Given the description of an element on the screen output the (x, y) to click on. 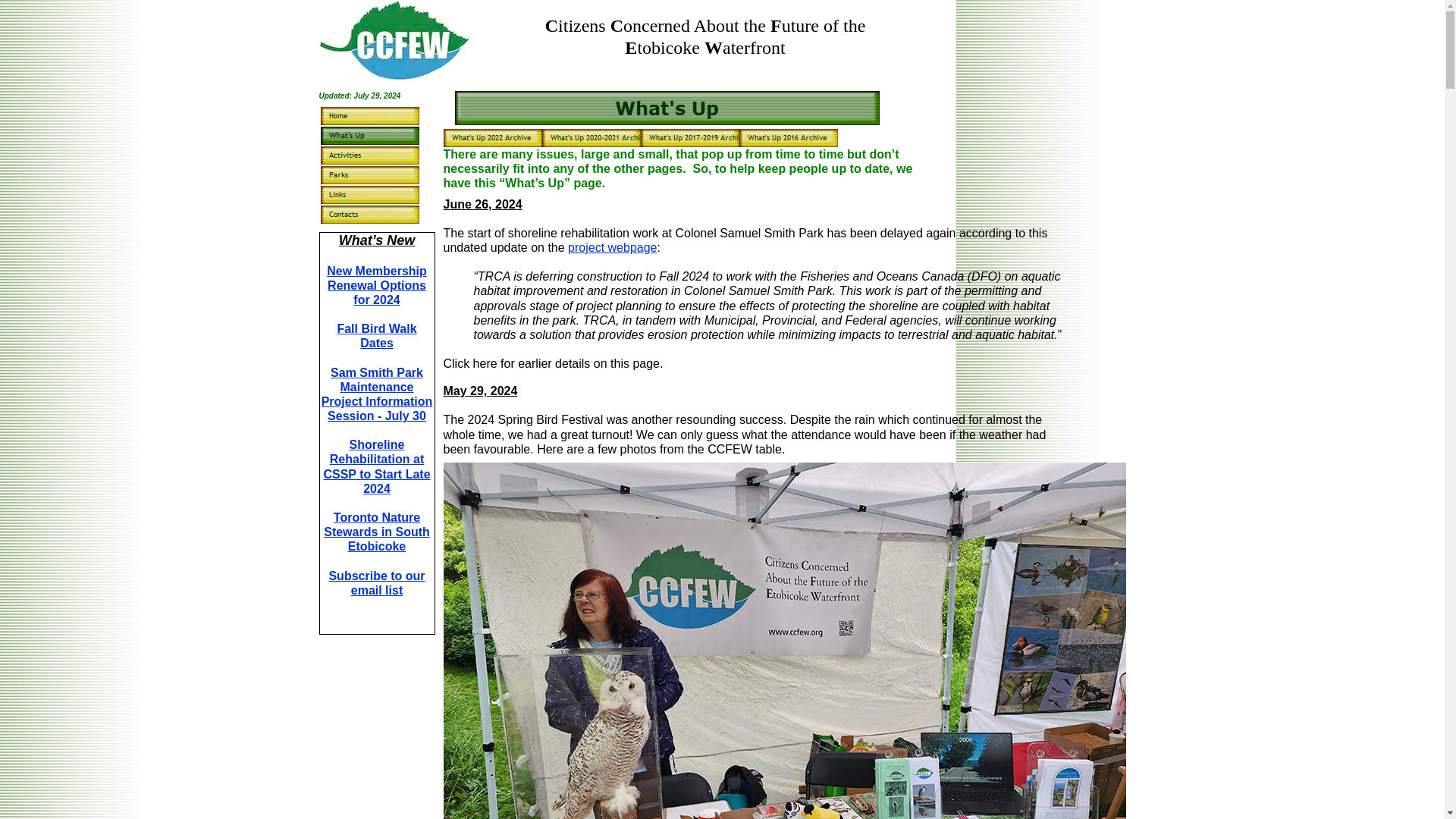
Parks (369, 175)
What's Up 2020-2021 Archive (590, 137)
Contacts (369, 214)
What's Up 2016 Archive (787, 137)
What's Up (369, 135)
CCFEW Logo 200x105 (394, 39)
What's Up 2022 Archive (491, 137)
Fall Bird Walk Dates (376, 335)
What's Up 2017-2019 Archive (689, 137)
New Membership Renewal Options for 2024 (376, 285)
